Given the description of an element on the screen output the (x, y) to click on. 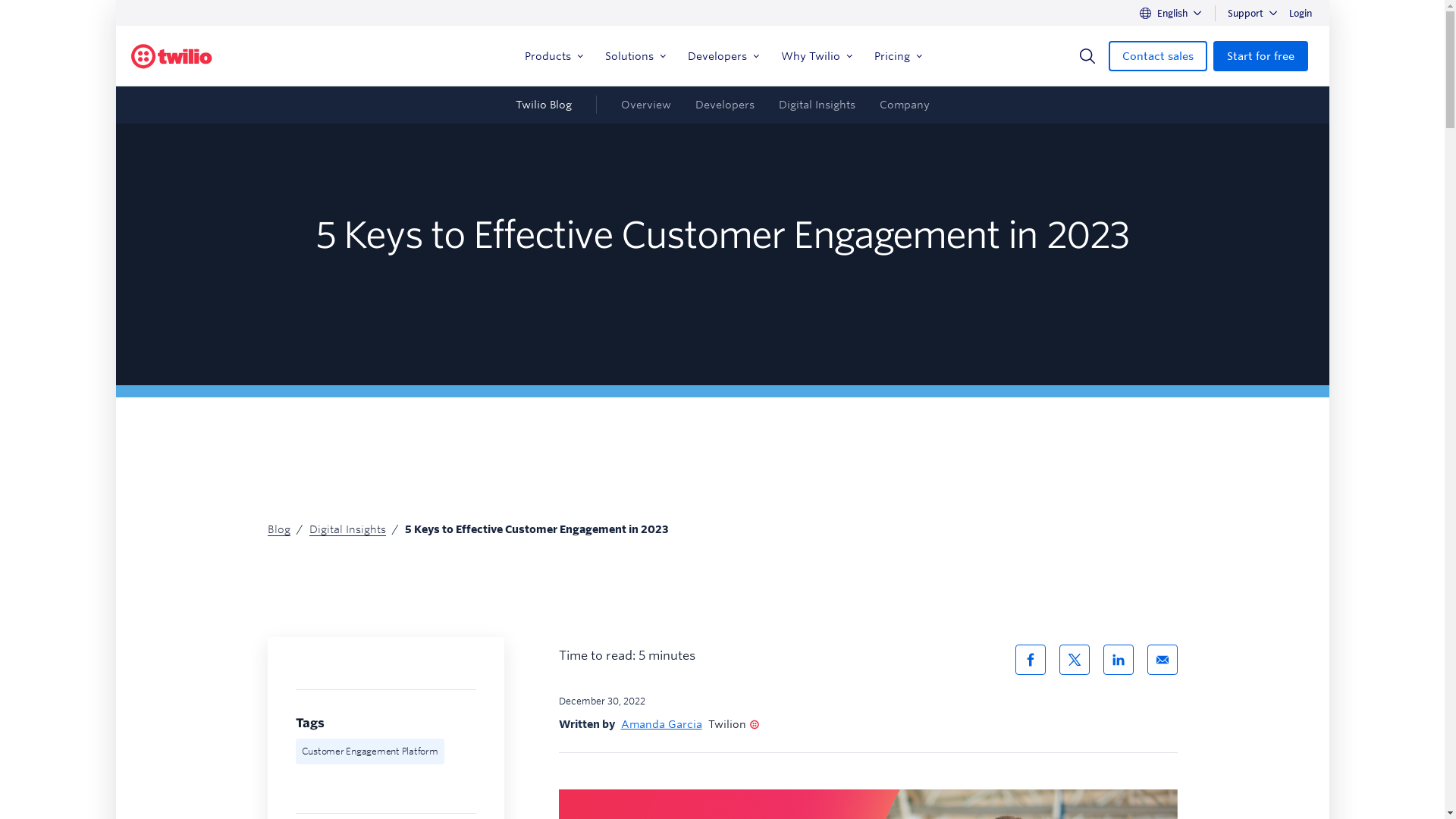
keys to effective customer engagement (866, 803)
Products (552, 55)
